Given the description of an element on the screen output the (x, y) to click on. 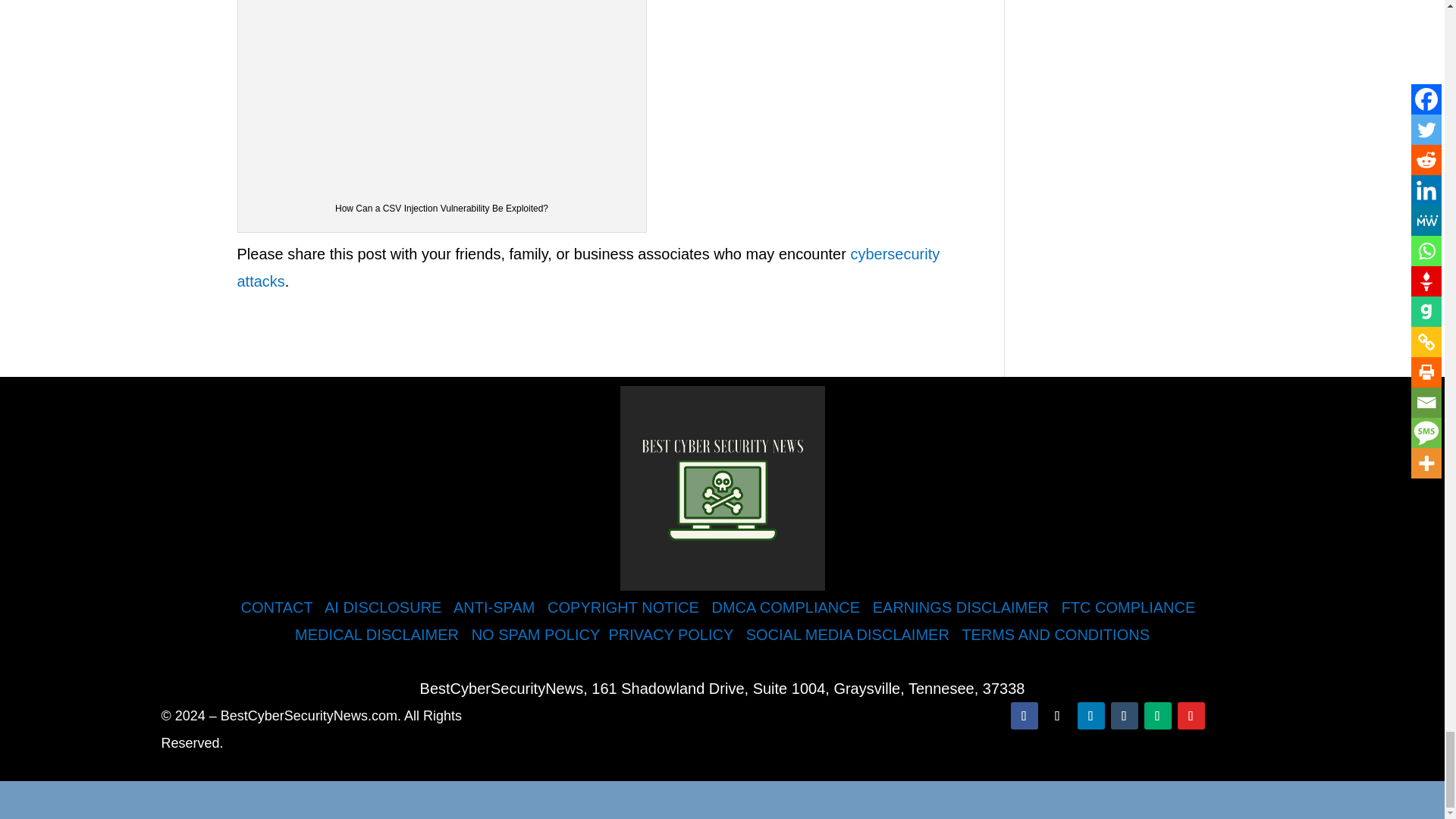
How Can a CSV Injection Vulnerability Be Exploited? (442, 93)
